Given the description of an element on the screen output the (x, y) to click on. 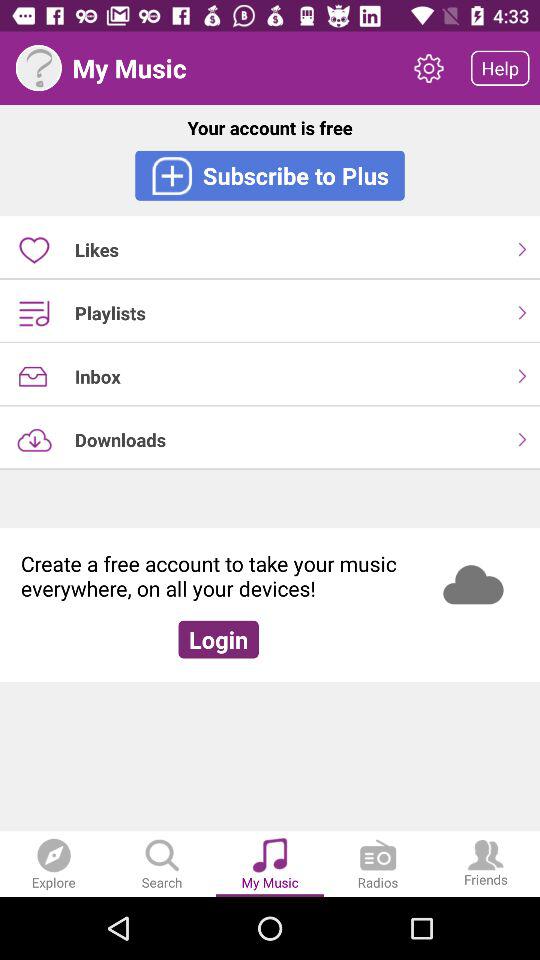
swipe to the subscribe to plus item (269, 175)
